Given the description of an element on the screen output the (x, y) to click on. 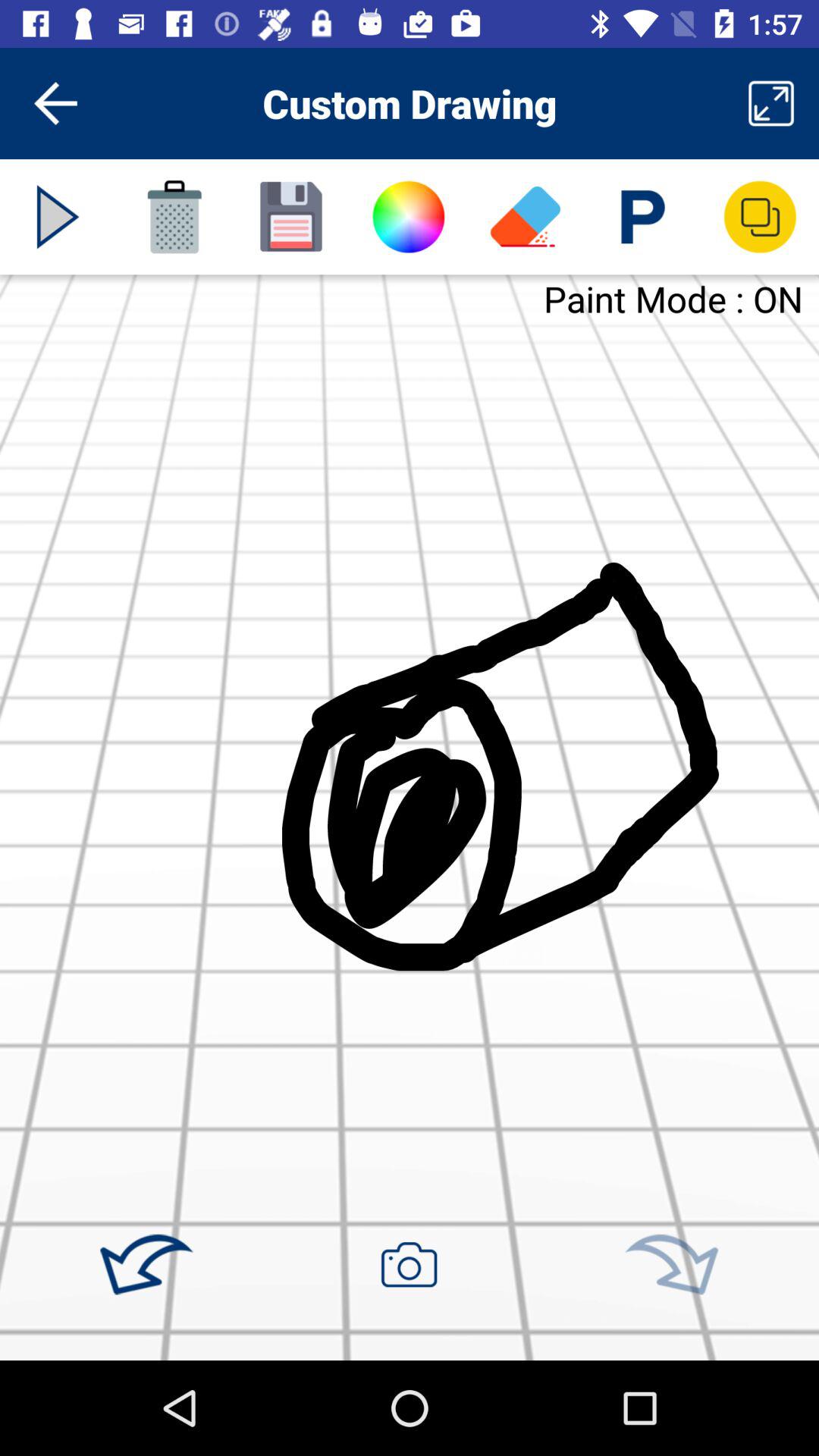
would save file (291, 216)
